Given the description of an element on the screen output the (x, y) to click on. 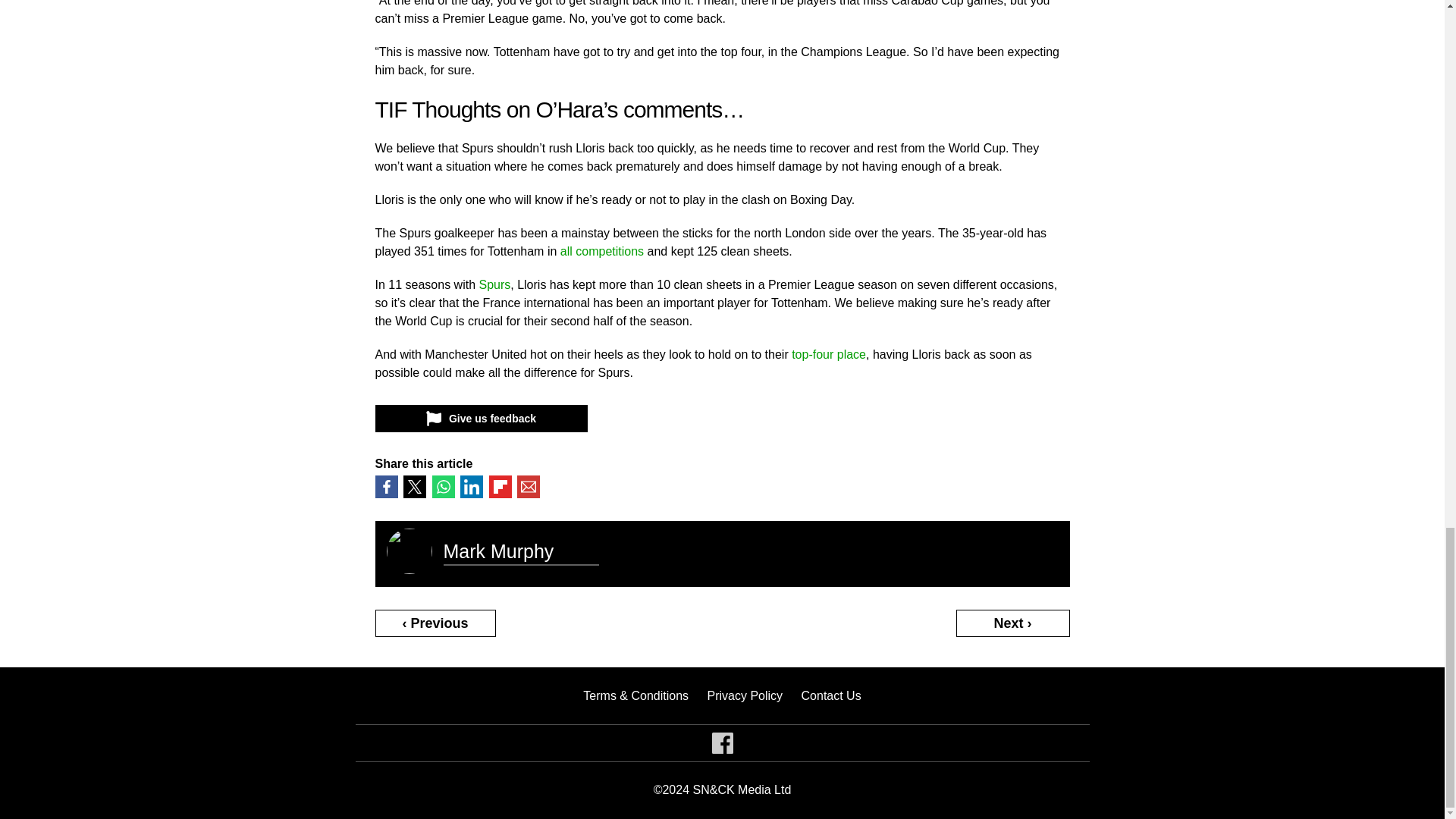
share on Twitter (414, 486)
Spurs (495, 284)
all competitions (601, 250)
share on Facebook (385, 486)
top-four place (829, 354)
Give us feedback (480, 418)
